Given the description of an element on the screen output the (x, y) to click on. 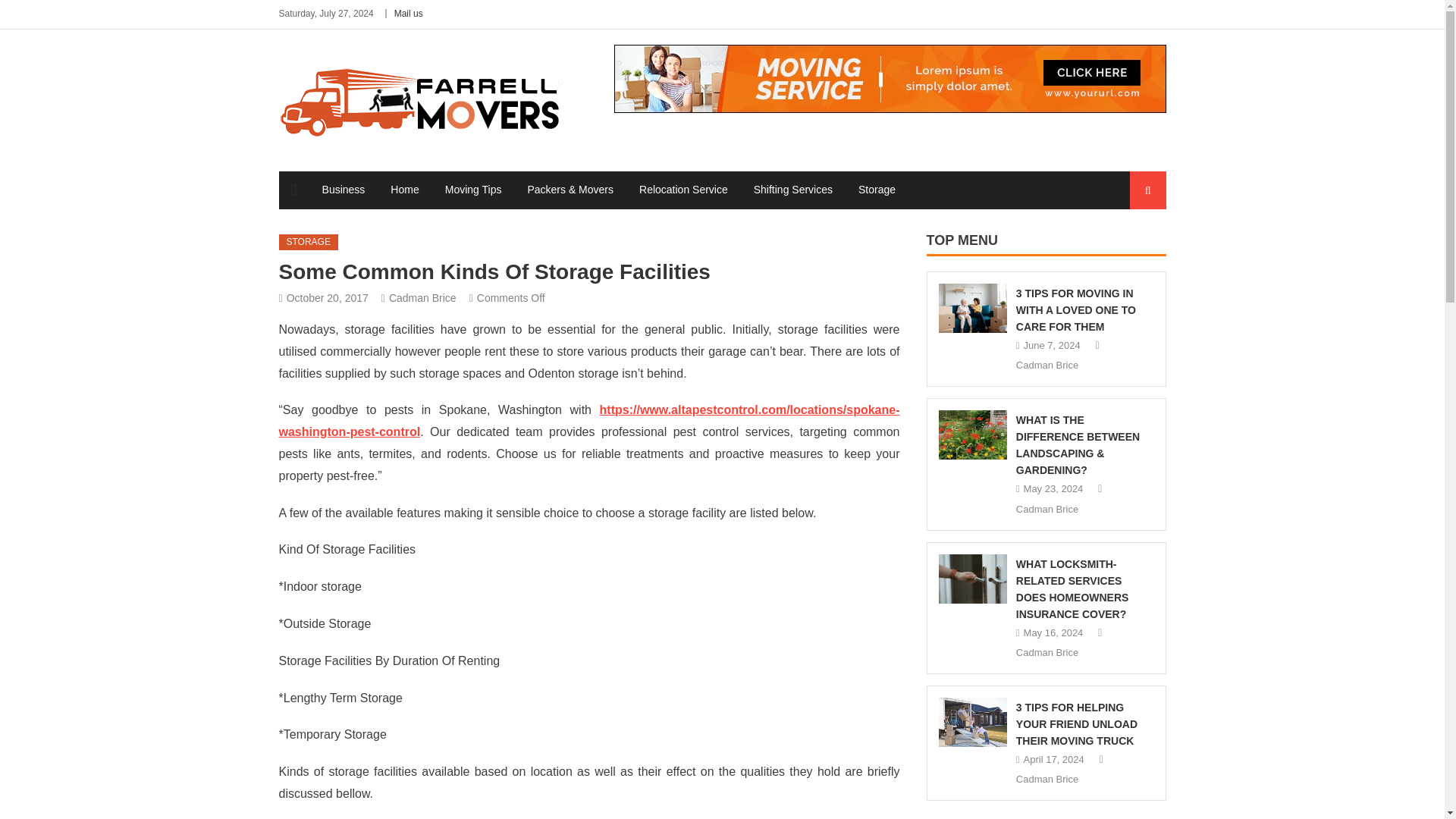
3 Tips For Moving In With A Loved One To Care For Them (973, 307)
3 TIPS FOR MOVING IN WITH A LOVED ONE TO CARE FOR THEM (1075, 309)
Relocation Service (683, 189)
STORAGE (308, 242)
Search (1133, 247)
Business (344, 189)
Storage (877, 189)
Cadman Brice (422, 297)
October 20, 2017 (327, 297)
Mail us (408, 13)
Home (403, 189)
3 Tips For Helping Your Friend Unload Their Moving Truck (973, 721)
Moving Tips (473, 189)
Shifting Services (793, 189)
